Given the description of an element on the screen output the (x, y) to click on. 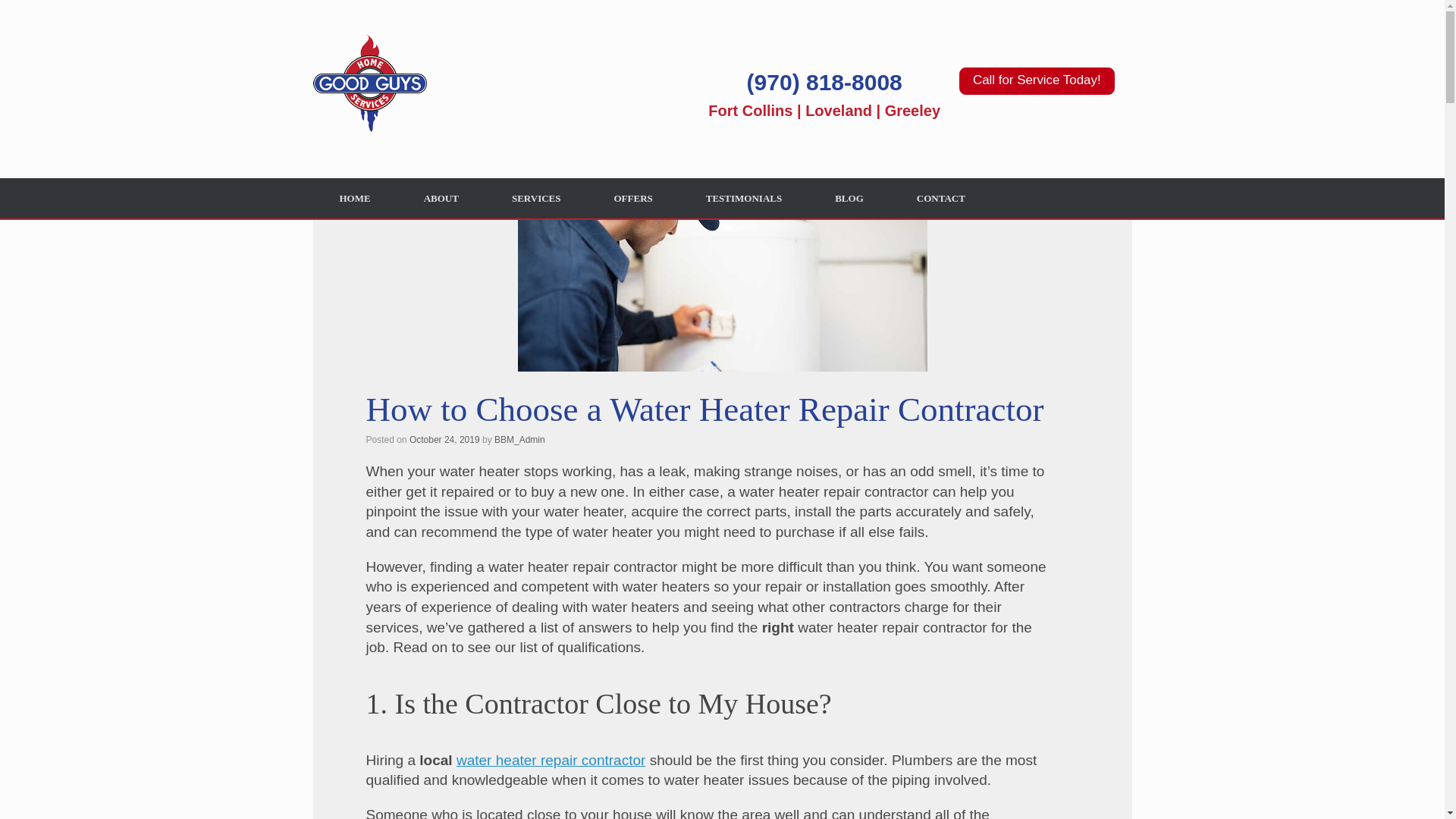
BLOG (848, 198)
HOME (354, 198)
Call for Service Today! (1036, 81)
Good Guys Home Services (369, 89)
1:39 am (444, 439)
October 24, 2019 (444, 439)
CONTACT (940, 198)
TESTIMONIALS (743, 198)
ABOUT (440, 198)
OFFERS (632, 198)
water heater repair contractor (551, 760)
SERVICES (536, 198)
